Given the description of an element on the screen output the (x, y) to click on. 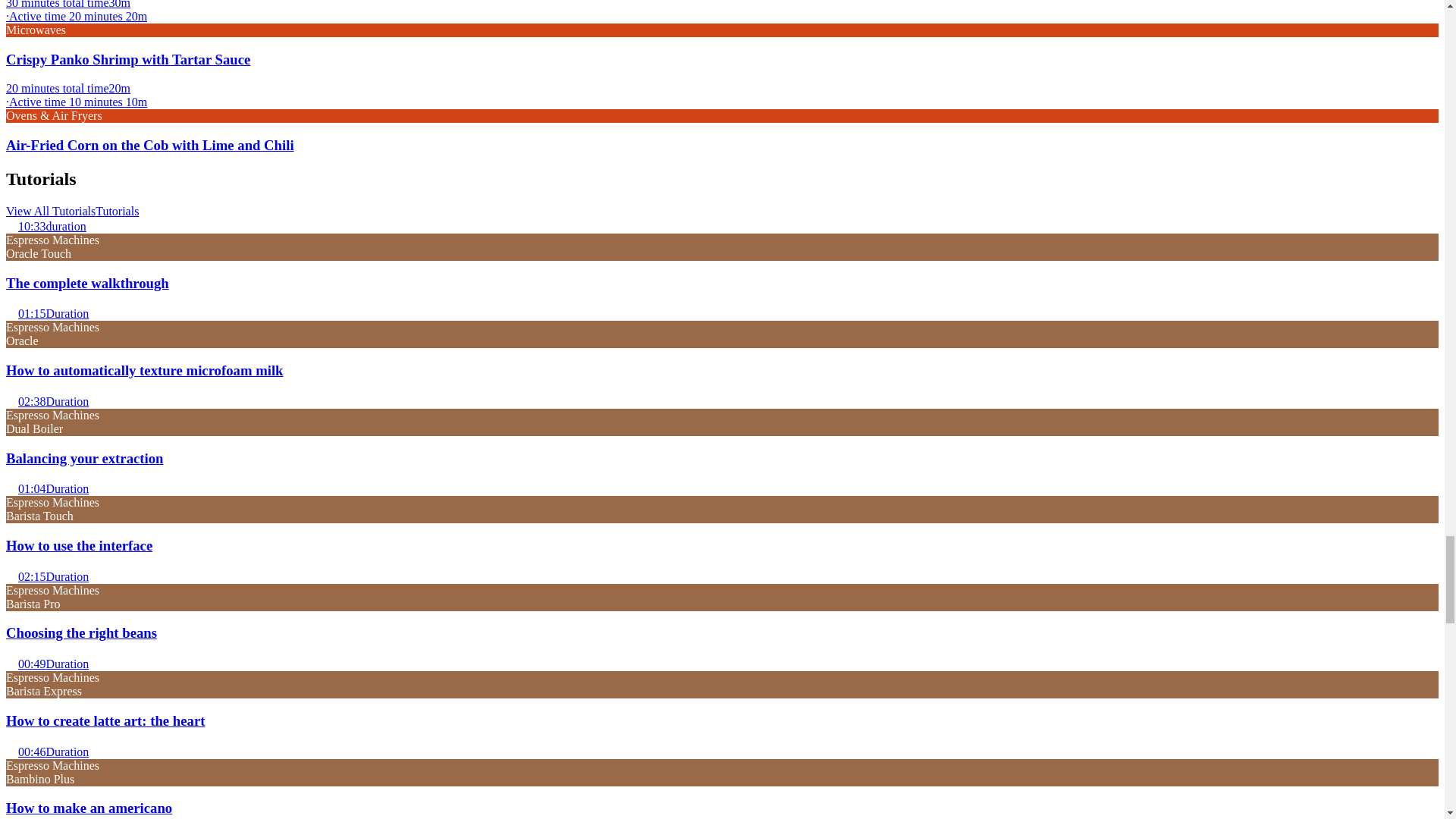
watch video (11, 662)
watch video (11, 574)
watch video (11, 399)
watch video (11, 224)
watch video (11, 749)
watch video (11, 311)
watch video (11, 486)
